Given the description of an element on the screen output the (x, y) to click on. 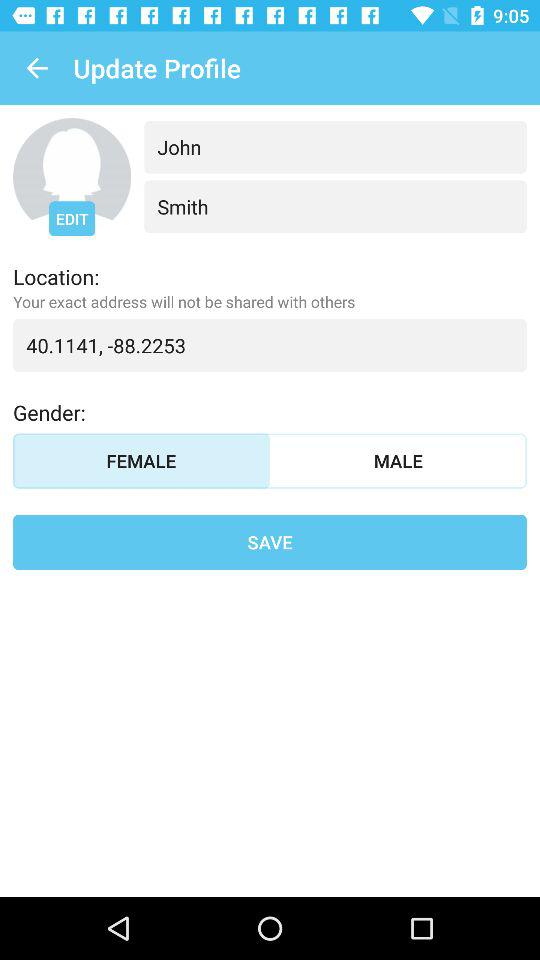
click the icon above location: icon (72, 218)
